Given the description of an element on the screen output the (x, y) to click on. 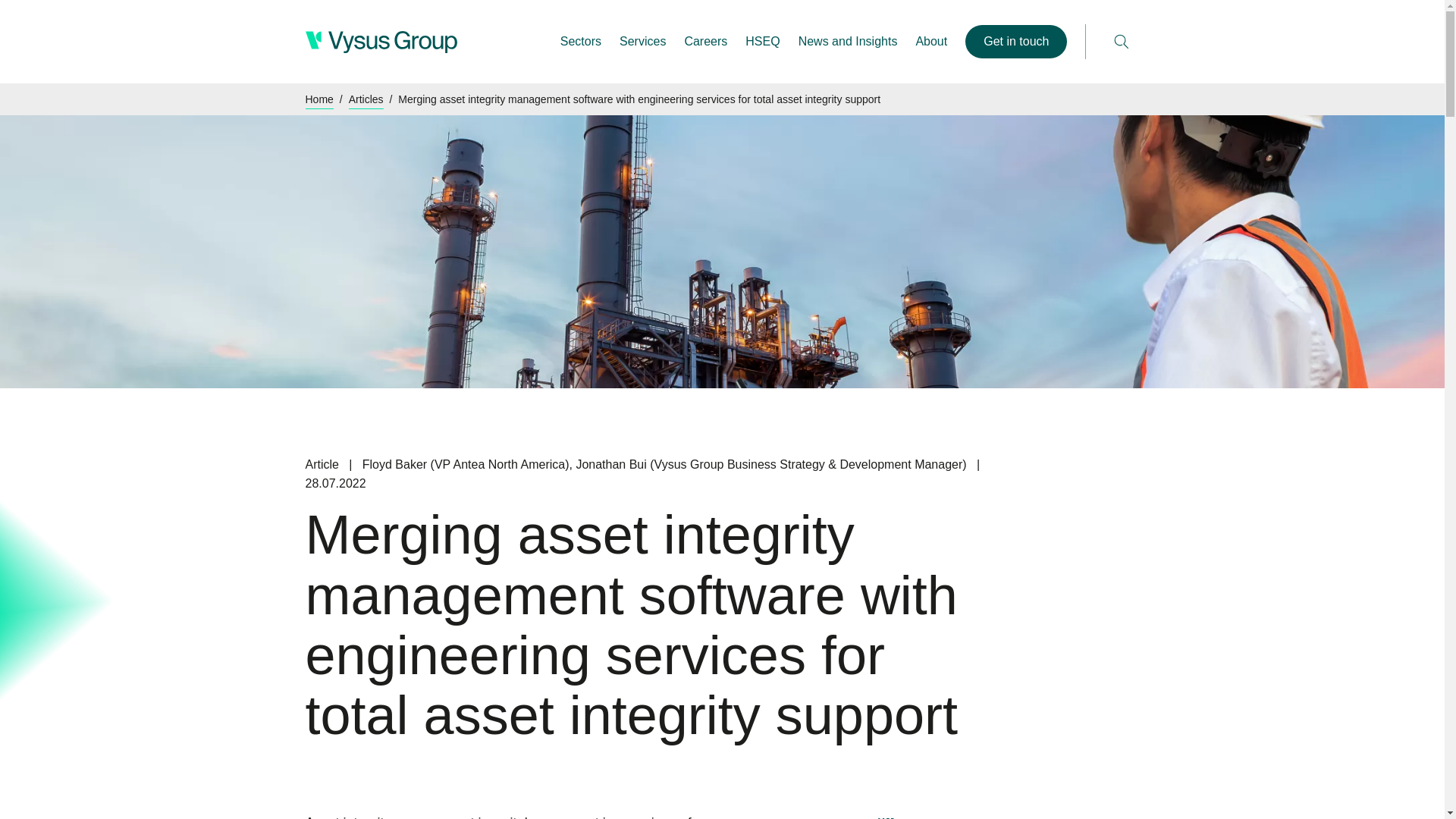
Get in touch (1016, 41)
Careers (705, 41)
Open the search (1120, 41)
News and Insights (847, 41)
HSEQ (761, 41)
About (931, 41)
Sectors (580, 41)
Services (642, 41)
